Given the description of an element on the screen output the (x, y) to click on. 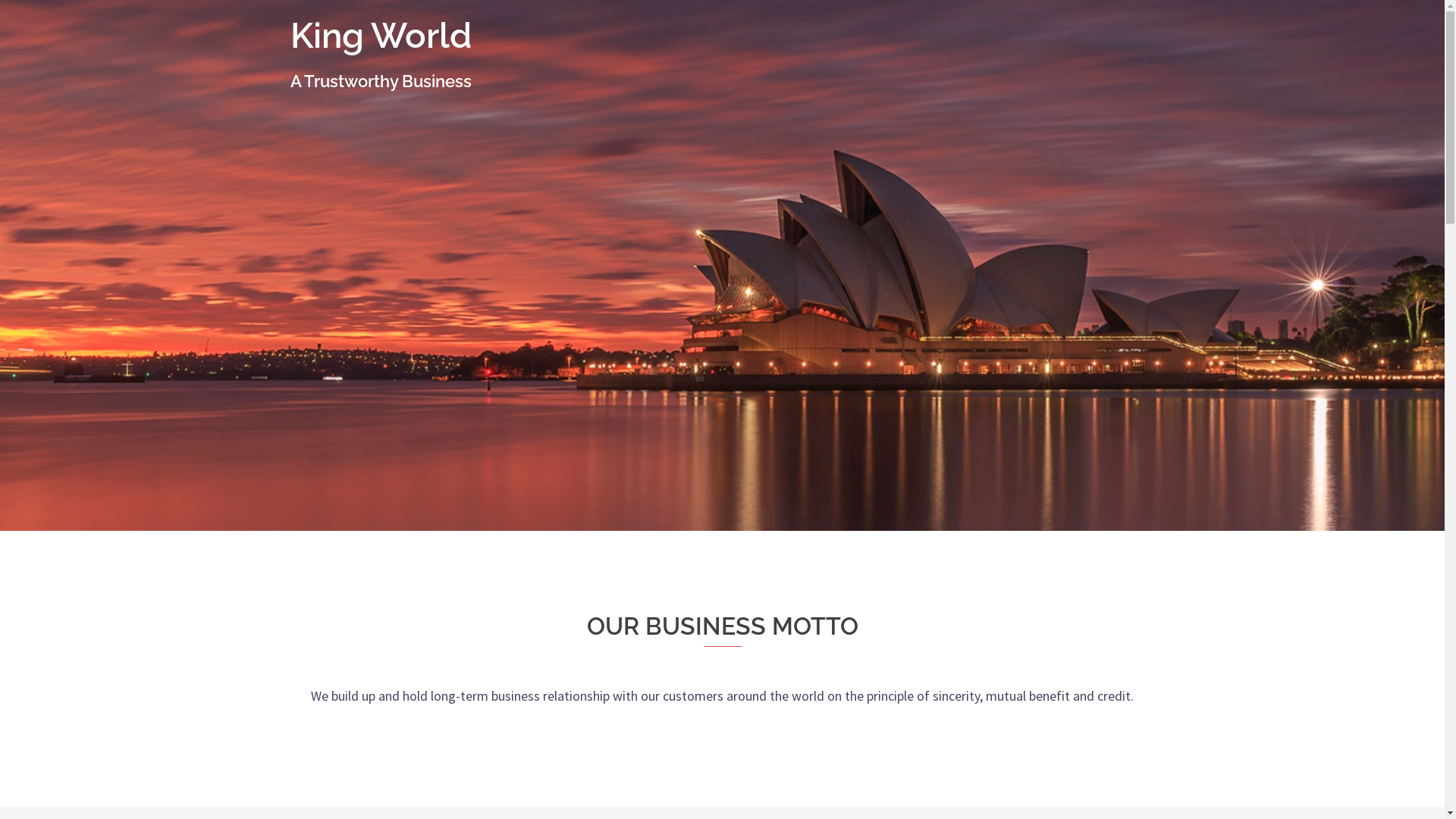
King World Element type: text (379, 35)
